Given the description of an element on the screen output the (x, y) to click on. 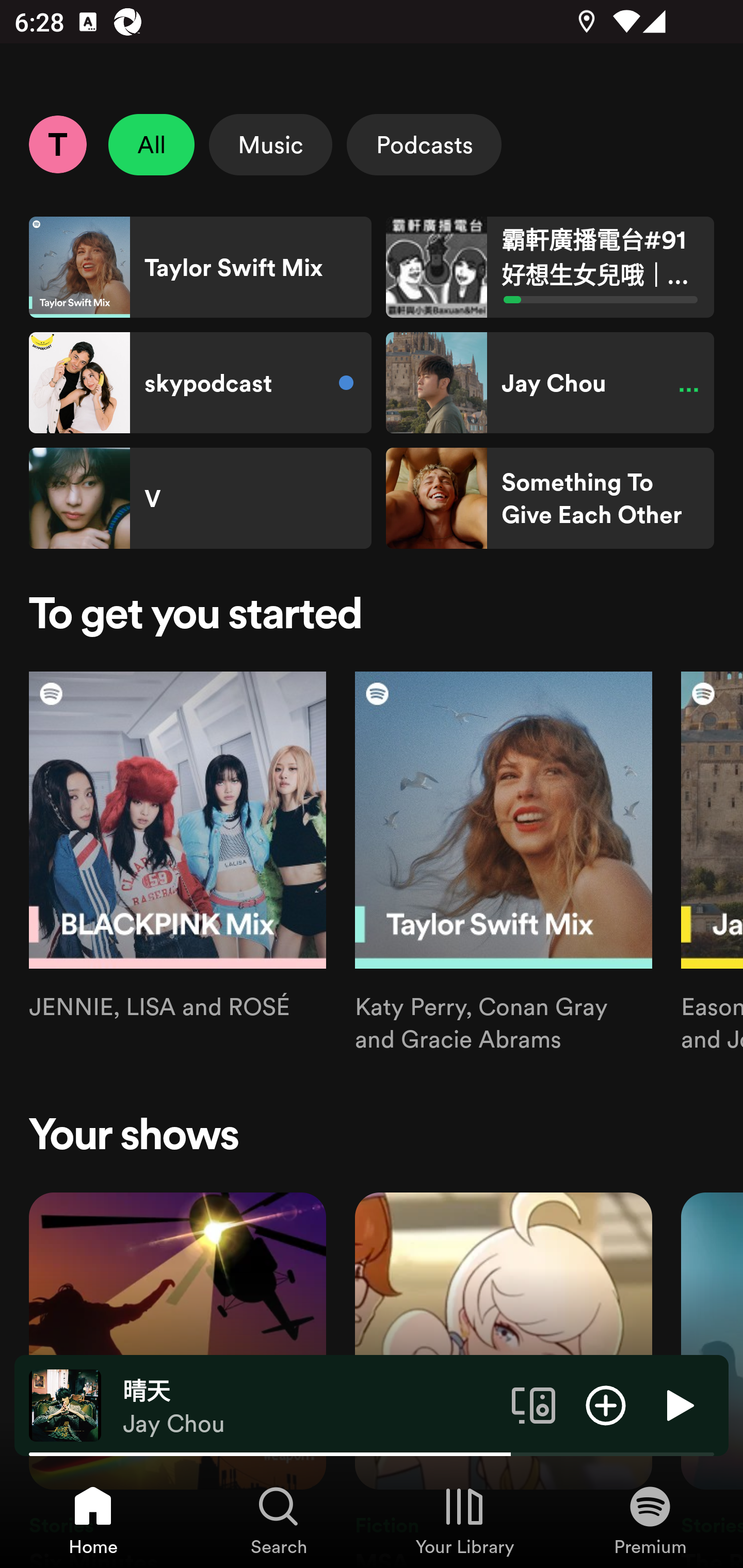
Profile (57, 144)
All Unselect All (151, 144)
Music Select Music (270, 144)
Podcasts Select Podcasts (423, 144)
Taylor Swift Mix Shortcut Taylor Swift Mix (199, 267)
skypodcast Shortcut skypodcast New content (199, 382)
Jay Chou Shortcut Jay Chou Paused (549, 382)
V Shortcut V (199, 498)
晴天 Jay Chou (309, 1405)
The cover art of the currently playing track (64, 1404)
Connect to a device. Opens the devices menu (533, 1404)
Add item (605, 1404)
Play (677, 1404)
Home, Tab 1 of 4 Home Home (92, 1519)
Search, Tab 2 of 4 Search Search (278, 1519)
Your Library, Tab 3 of 4 Your Library Your Library (464, 1519)
Premium, Tab 4 of 4 Premium Premium (650, 1519)
